Given the description of an element on the screen output the (x, y) to click on. 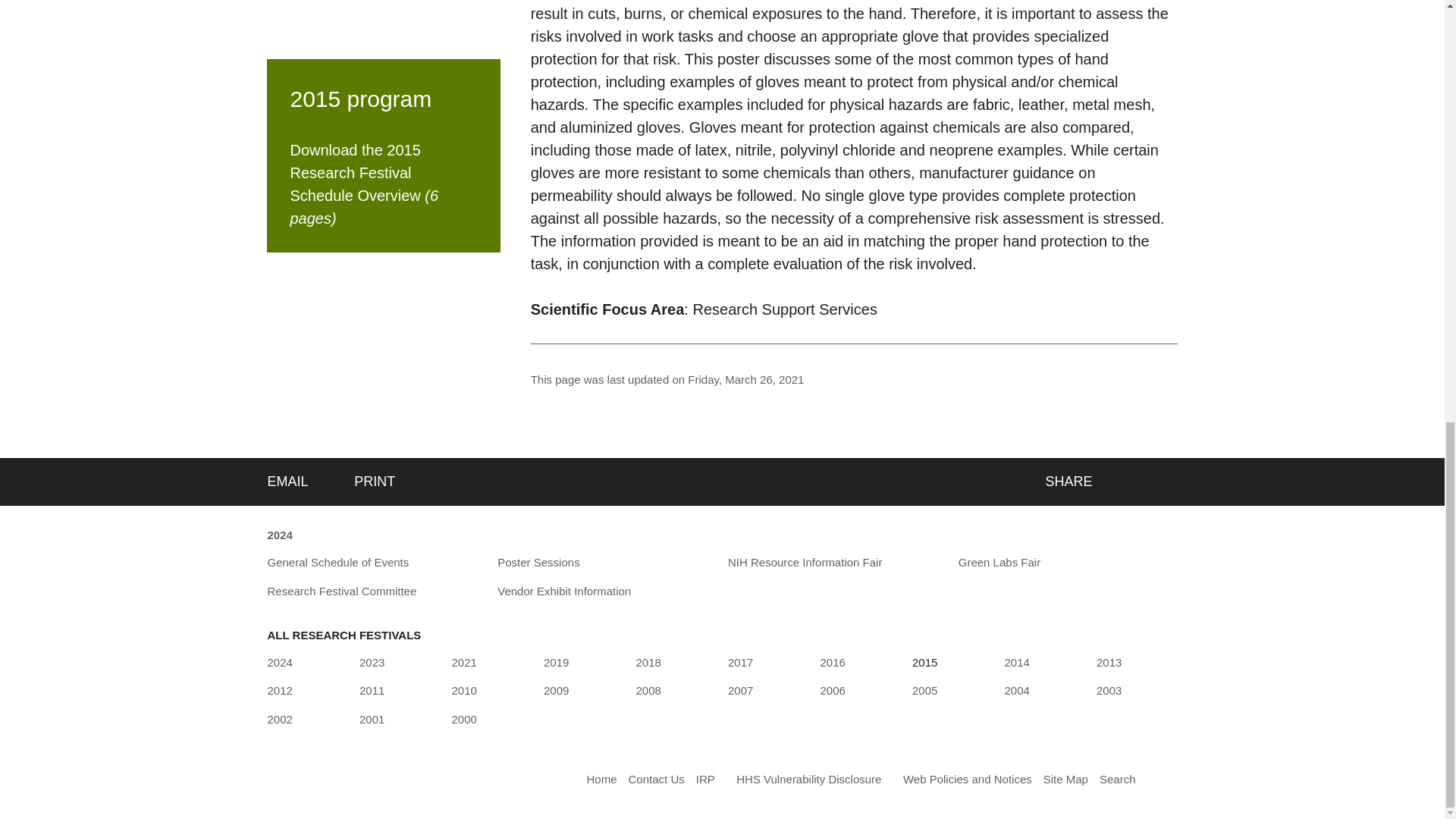
2024 NIH Research Festival (279, 535)
2024 NIH Research Festival (279, 662)
